Given the description of an element on the screen output the (x, y) to click on. 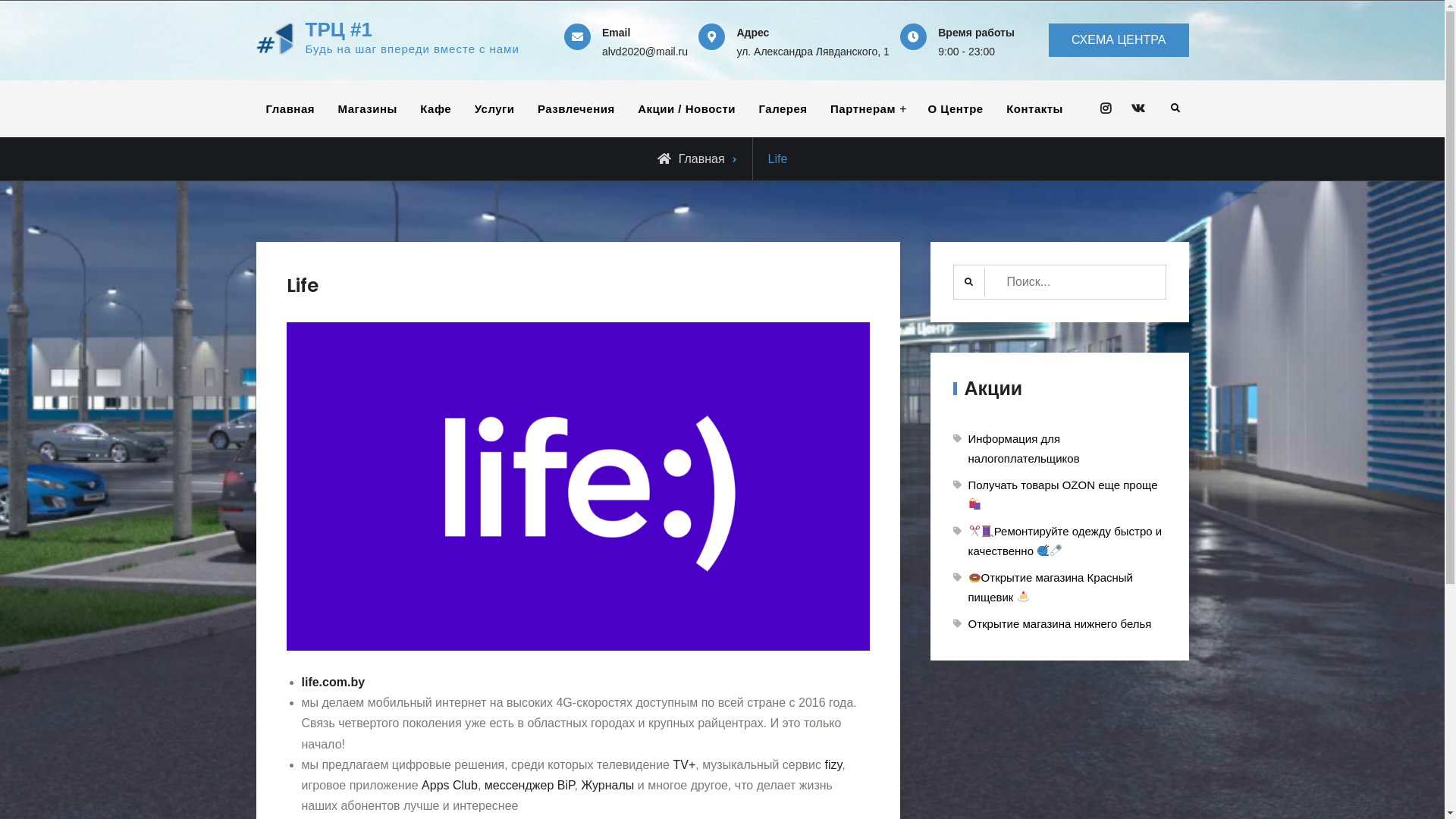
Search Element type: text (1174, 108)
Apps Club Element type: text (449, 784)
VK Element type: text (1138, 108)
Instagram Element type: text (1105, 108)
TV+ Element type: text (683, 764)
alvd2020@mail.ru Element type: text (644, 51)
fizy Element type: text (832, 764)
life.com.by Element type: text (333, 681)
